Given the description of an element on the screen output the (x, y) to click on. 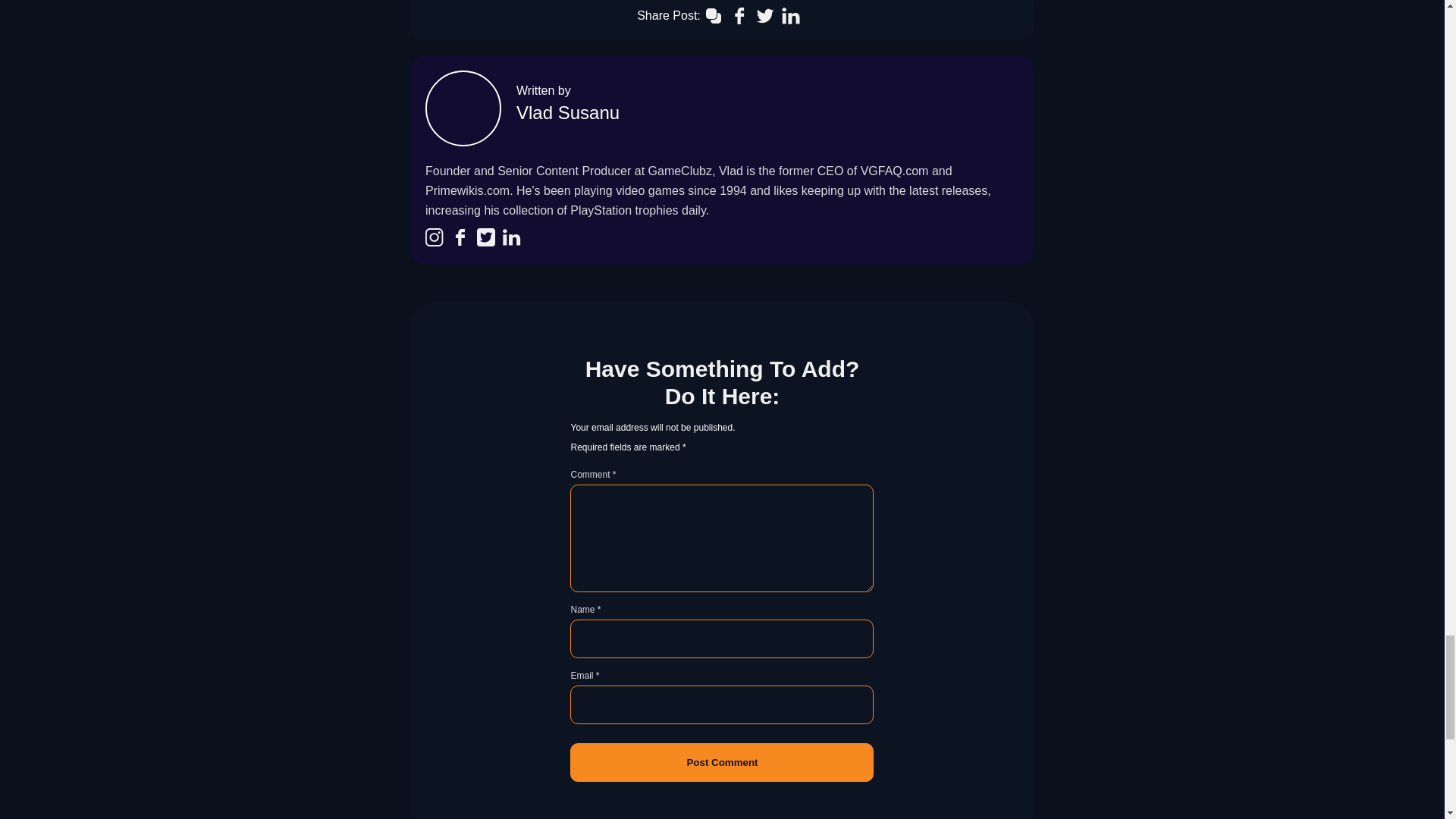
Vlad Susanu (568, 112)
Post Comment (721, 762)
Post Comment (721, 762)
